Given the description of an element on the screen output the (x, y) to click on. 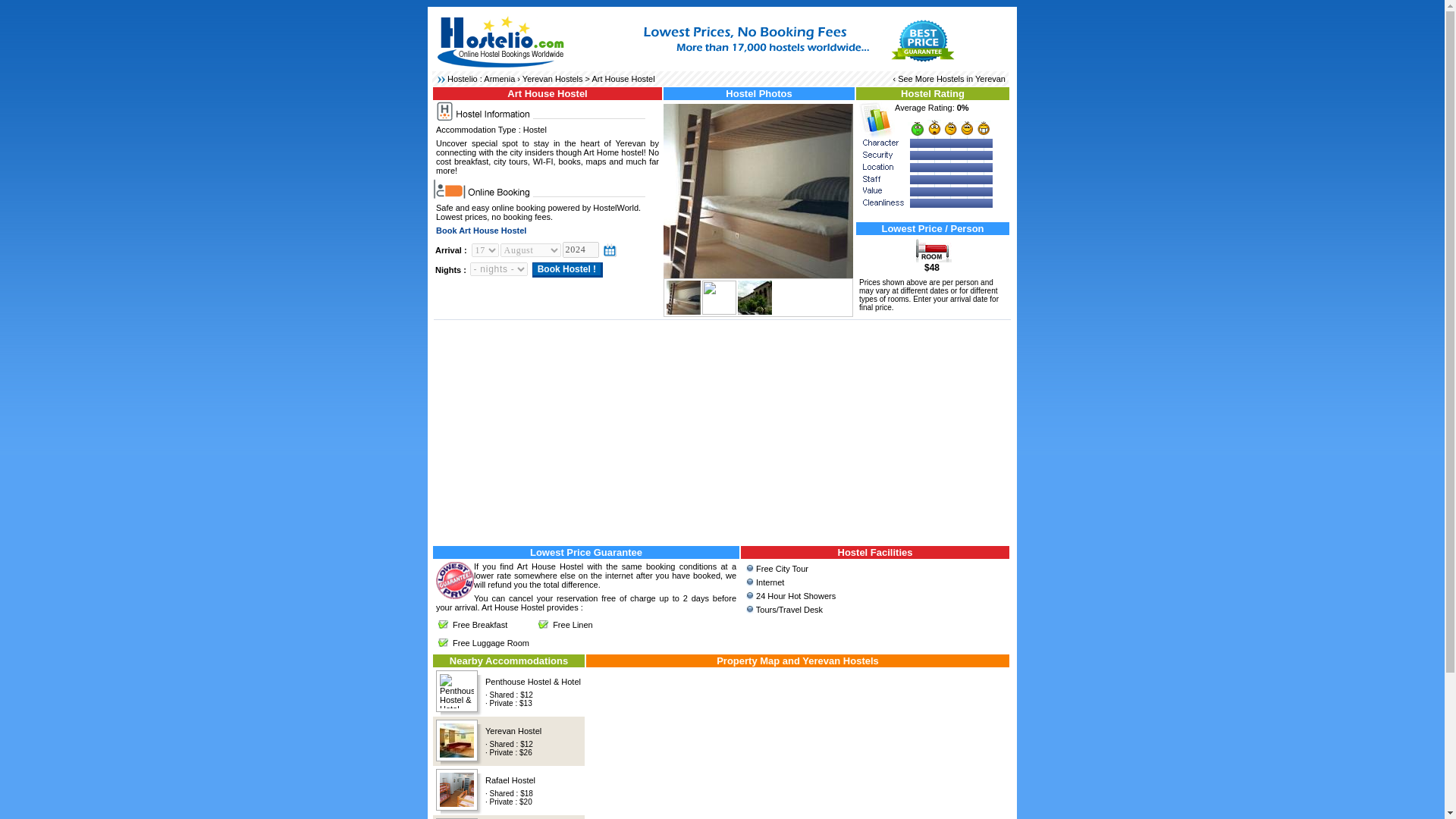
Year (580, 249)
Book Hostel ! (567, 269)
Yerevan Hostels (552, 78)
2024 (580, 249)
Hostels in Yerevan (971, 78)
Yerevan Hostel (512, 730)
Armenia (499, 78)
Rafael Hostel (509, 778)
